Given the description of an element on the screen output the (x, y) to click on. 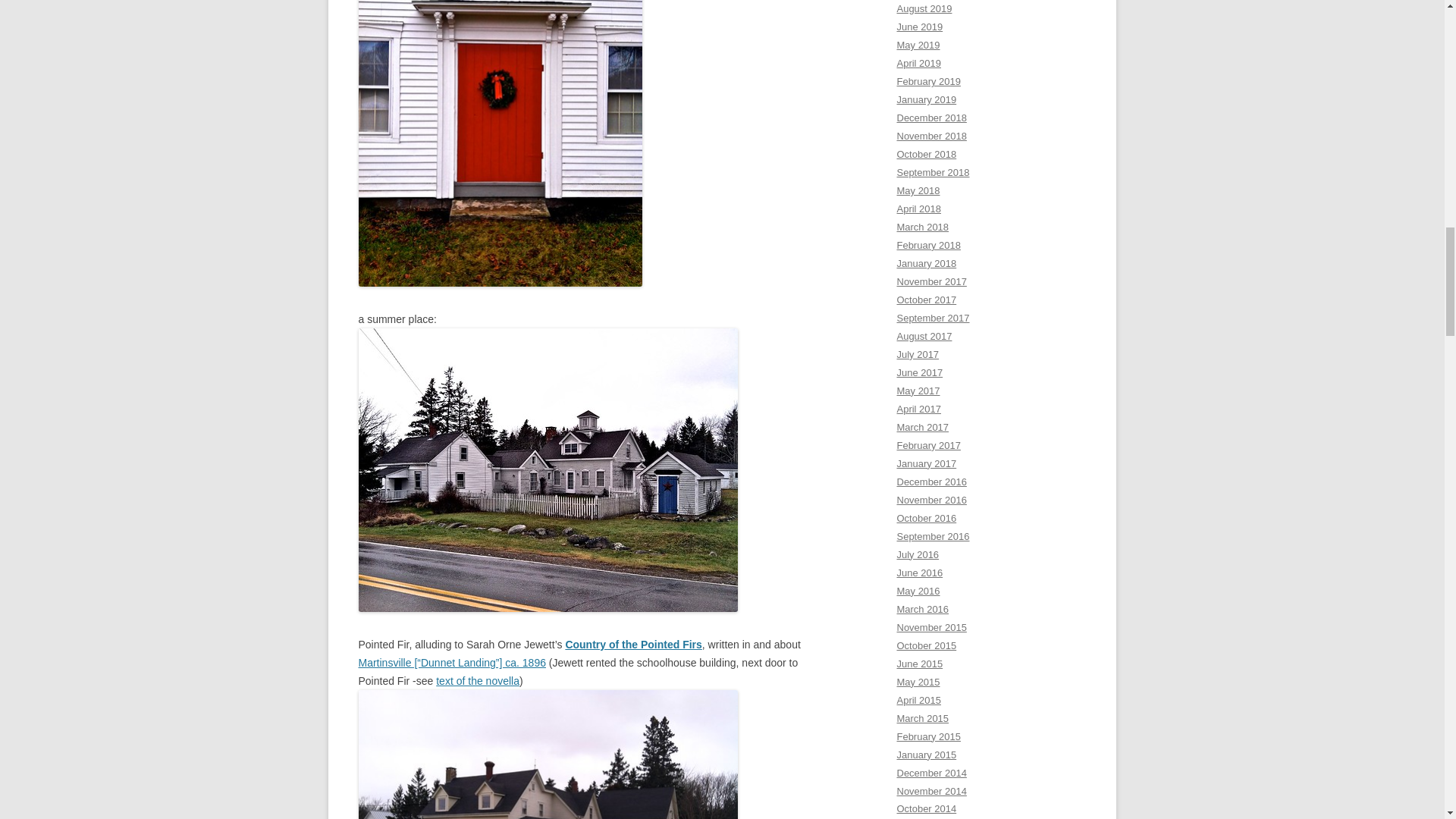
Seaward by oook, on Flickr (547, 607)
Country of the Pointed Firs (632, 644)
Yule by oook, on Flickr (500, 282)
